Given the description of an element on the screen output the (x, y) to click on. 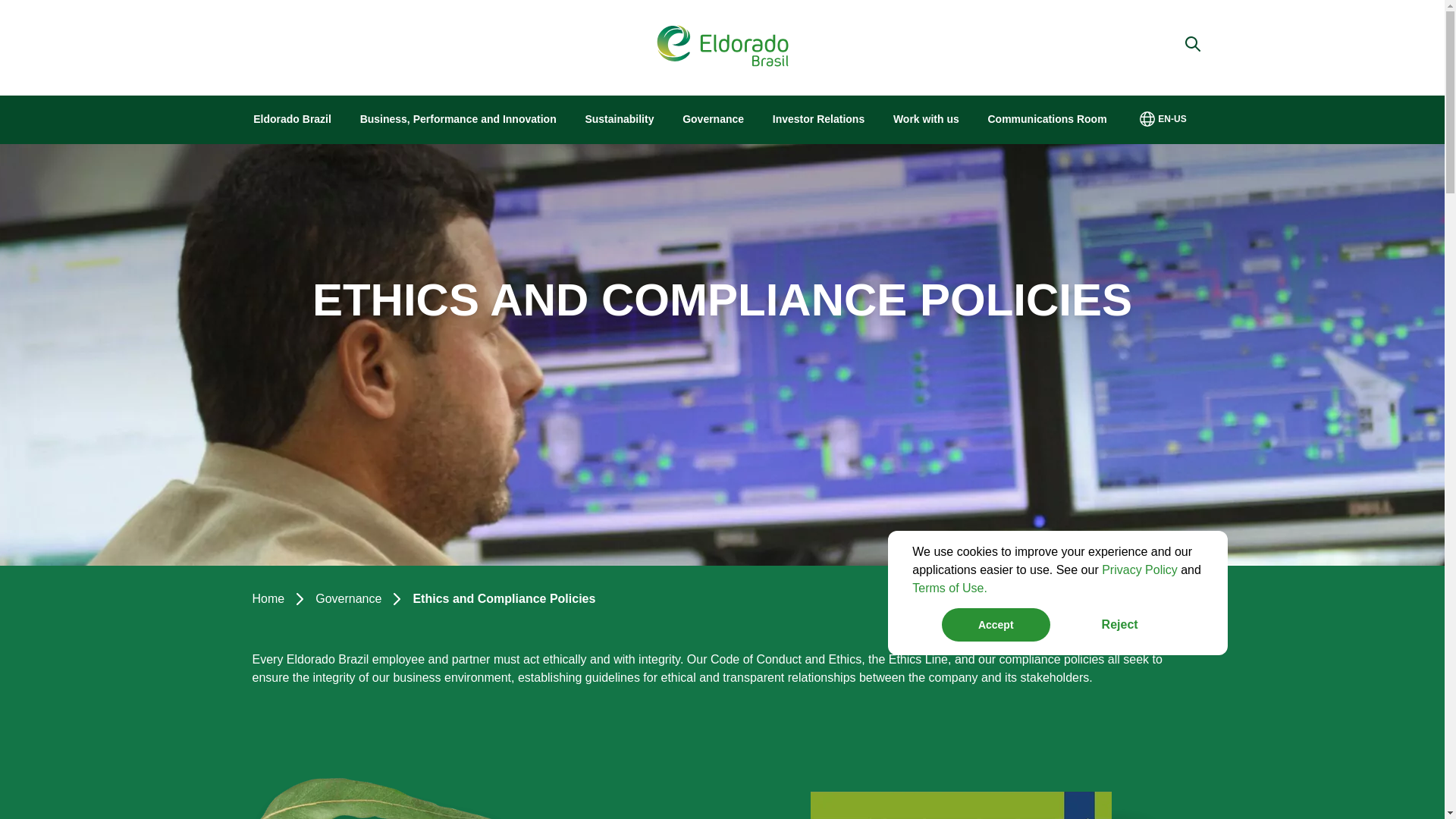
Reject (1119, 624)
Terms of Use. (949, 587)
Privacy Policy (1139, 569)
Accept (995, 624)
